Given the description of an element on the screen output the (x, y) to click on. 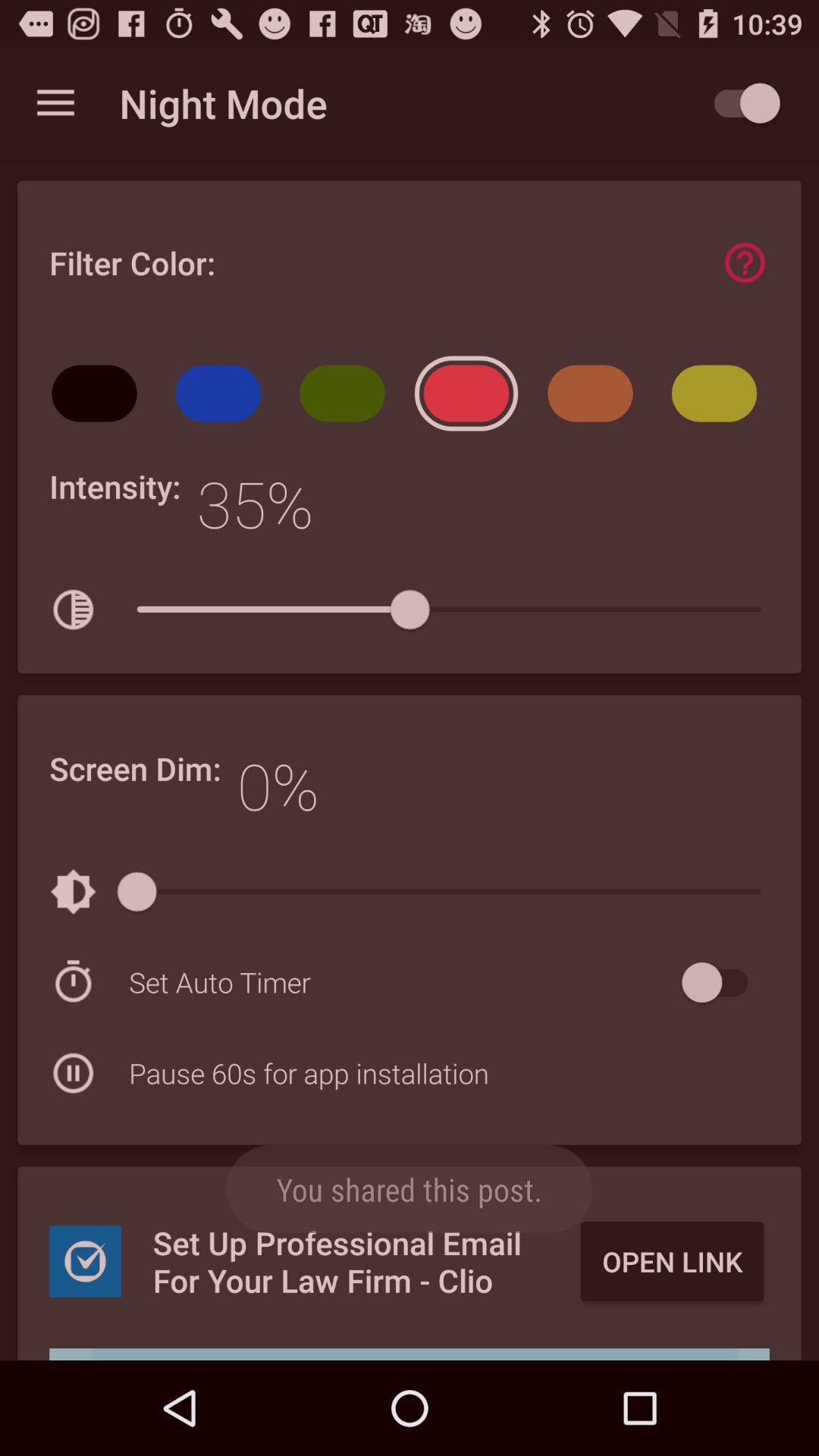
activate auto timer (722, 982)
